Given the description of an element on the screen output the (x, y) to click on. 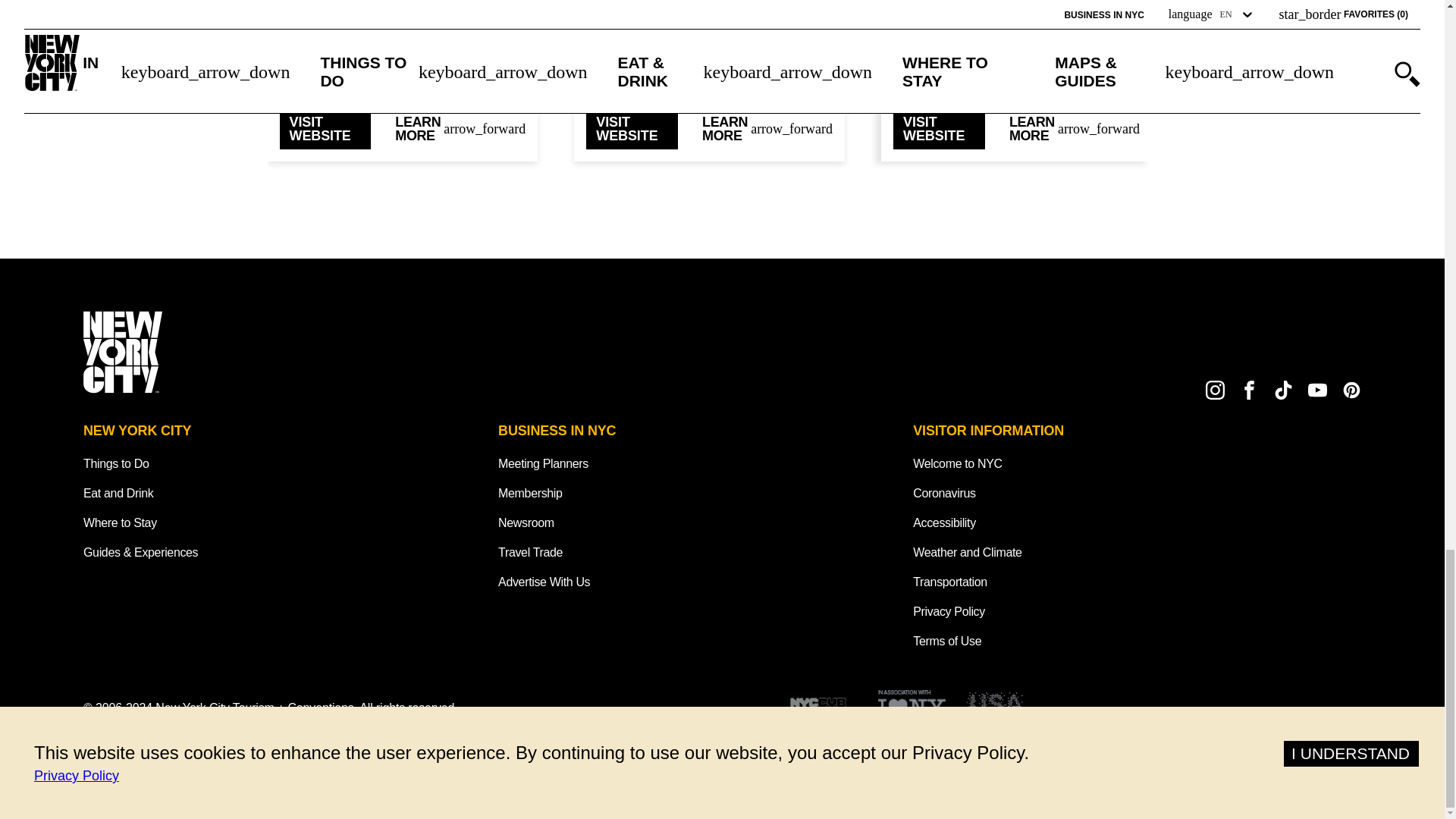
New York City Tourism and Conventions Instagram (1214, 389)
New York City Tourism and Conventions Facebook (1249, 389)
New York City Tourism and Conventions Pinterest (1351, 389)
New York City Tourism and Conventions YouTube (1316, 389)
New York City Tourism and Conventions TikTok (1283, 389)
